Given the description of an element on the screen output the (x, y) to click on. 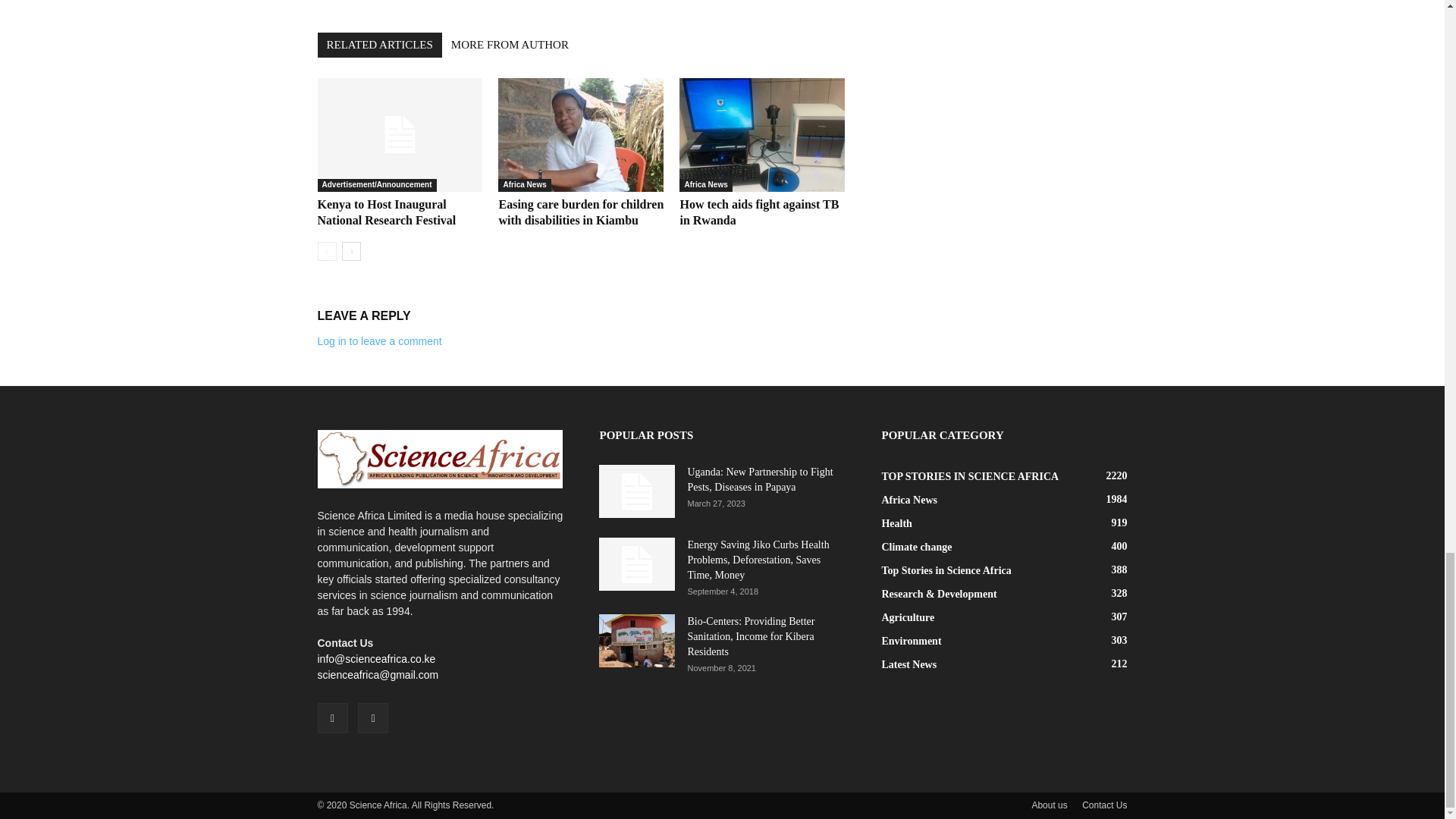
Easing care burden for children with disabilities in Kiambu (580, 212)
How tech aids fight against TB in Rwanda (761, 134)
Kenya to Host Inaugural National Research Festival (399, 134)
How tech aids fight against TB in Rwanda (758, 212)
Kenya to Host Inaugural National Research Festival (386, 212)
Easing care burden for children with disabilities in Kiambu (580, 134)
